Given the description of an element on the screen output the (x, y) to click on. 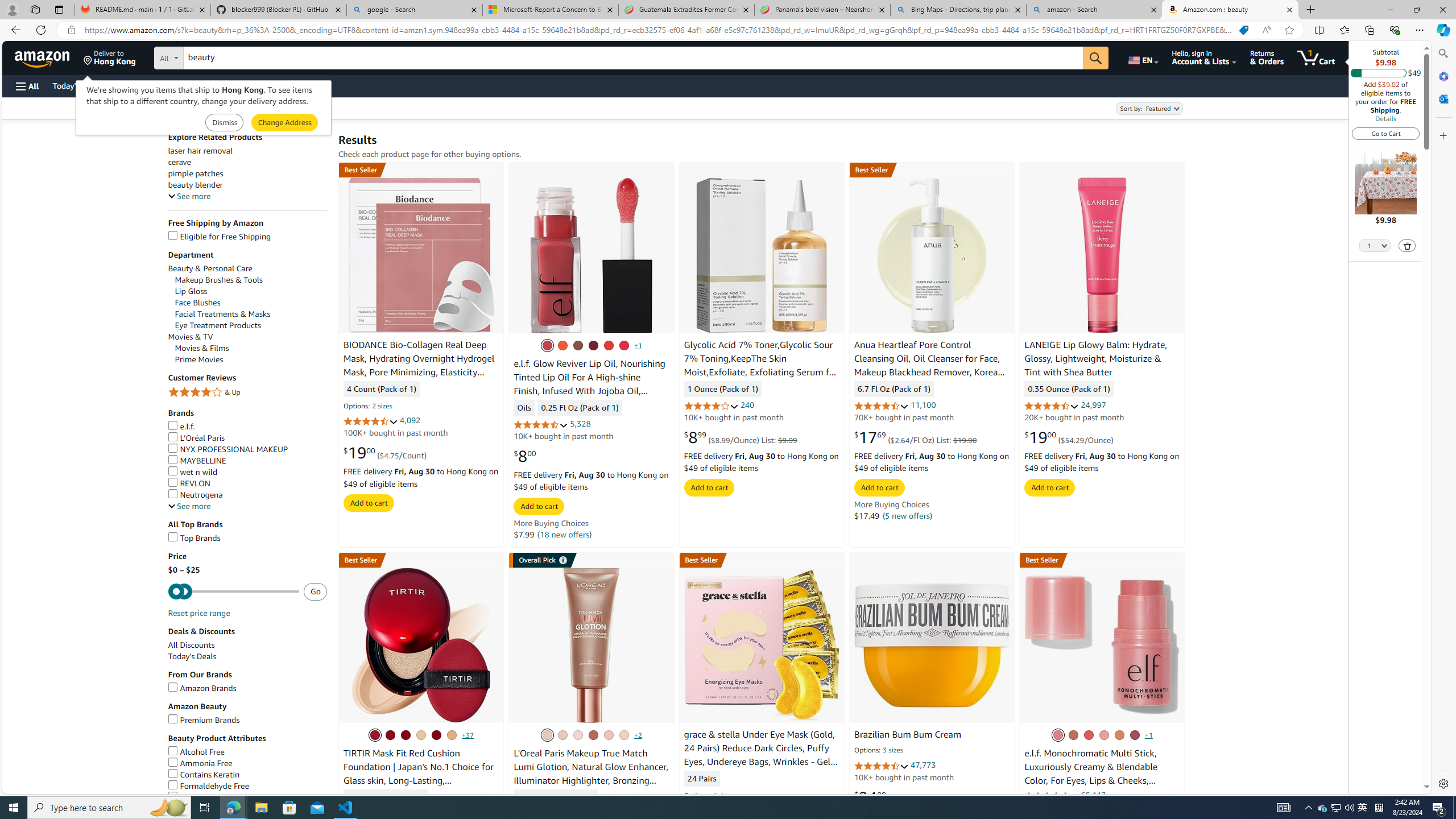
4.1 out of 5 stars (711, 405)
21N Ivory (405, 734)
Returns & Orders (1266, 57)
Premium Brands (203, 719)
Contains Keratin (203, 774)
+1 (1148, 734)
(18 new offers) (564, 534)
3 sizes (892, 750)
+2 (637, 734)
Makeup Brushes & Tools (218, 279)
wet n wild (247, 472)
